Given the description of an element on the screen output the (x, y) to click on. 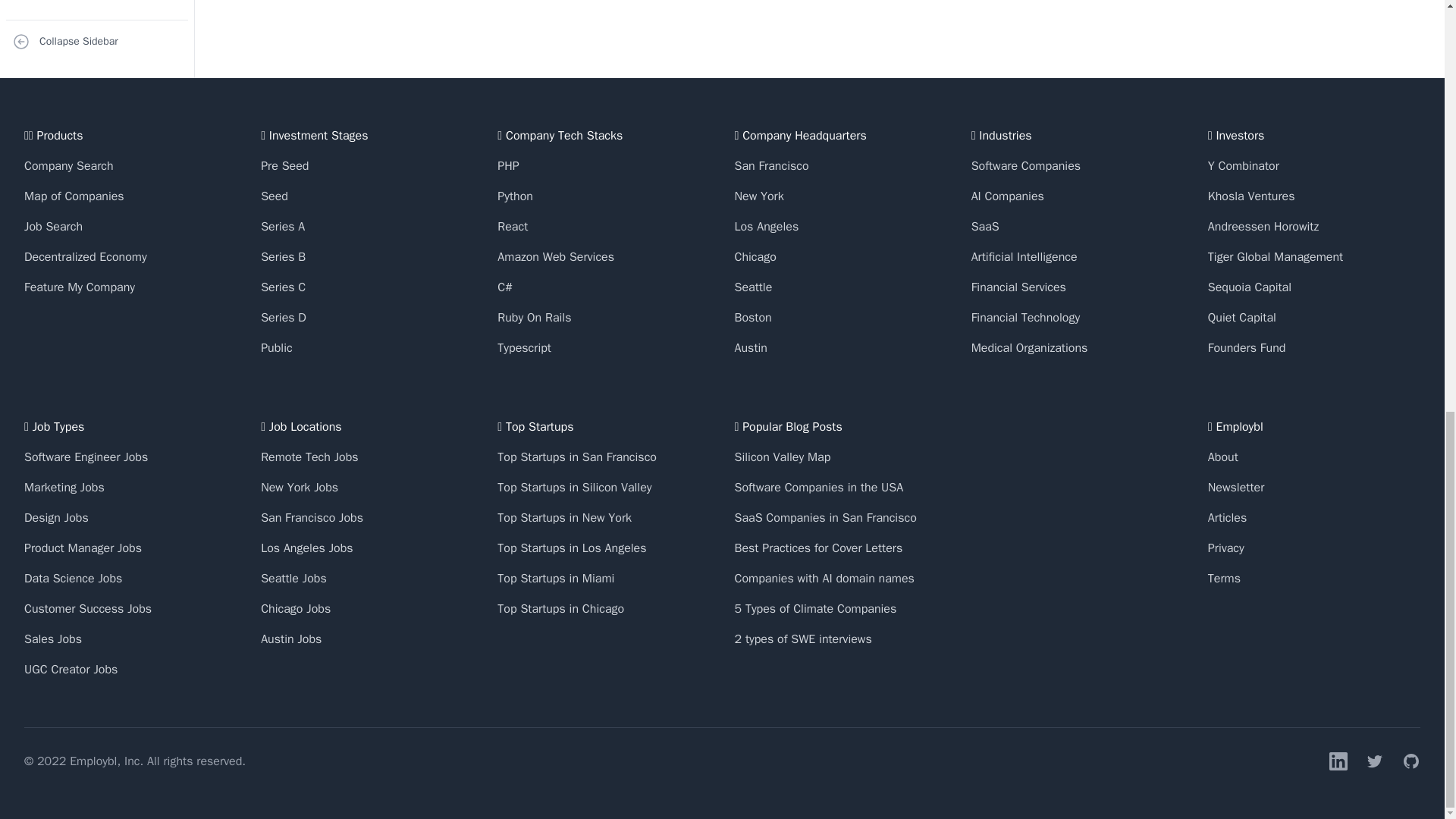
Pre Seed (284, 165)
Amazon Web Services (555, 256)
Map of Companies (73, 196)
Seed (274, 196)
Series A (282, 226)
Feature My Company (79, 287)
Python (514, 196)
Decentralized Economy (85, 256)
Typescript (524, 347)
PHP (507, 165)
